Given the description of an element on the screen output the (x, y) to click on. 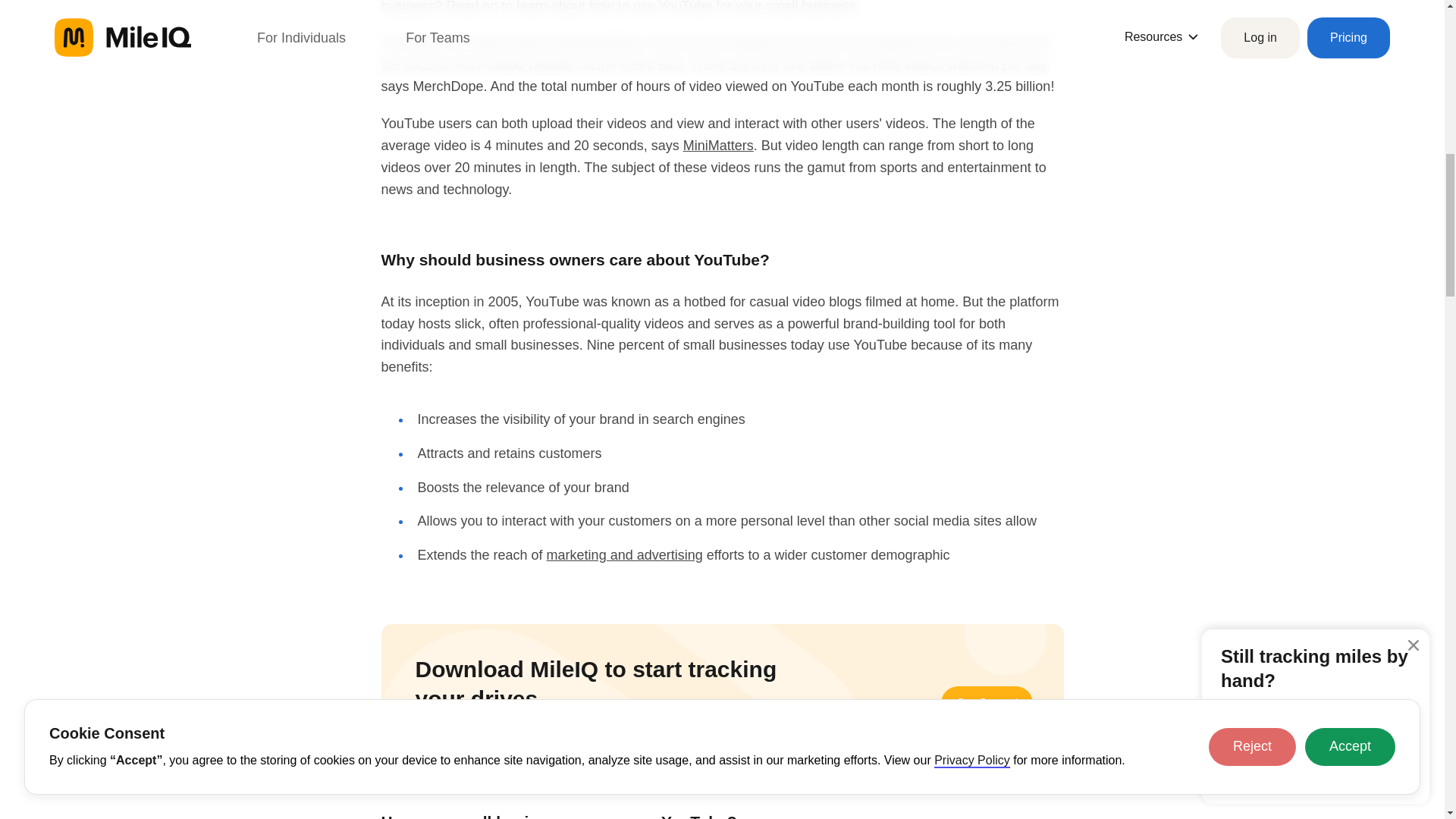
MiniMatters (718, 145)
Get Started (986, 703)
marketing and advertising (625, 554)
